Given the description of an element on the screen output the (x, y) to click on. 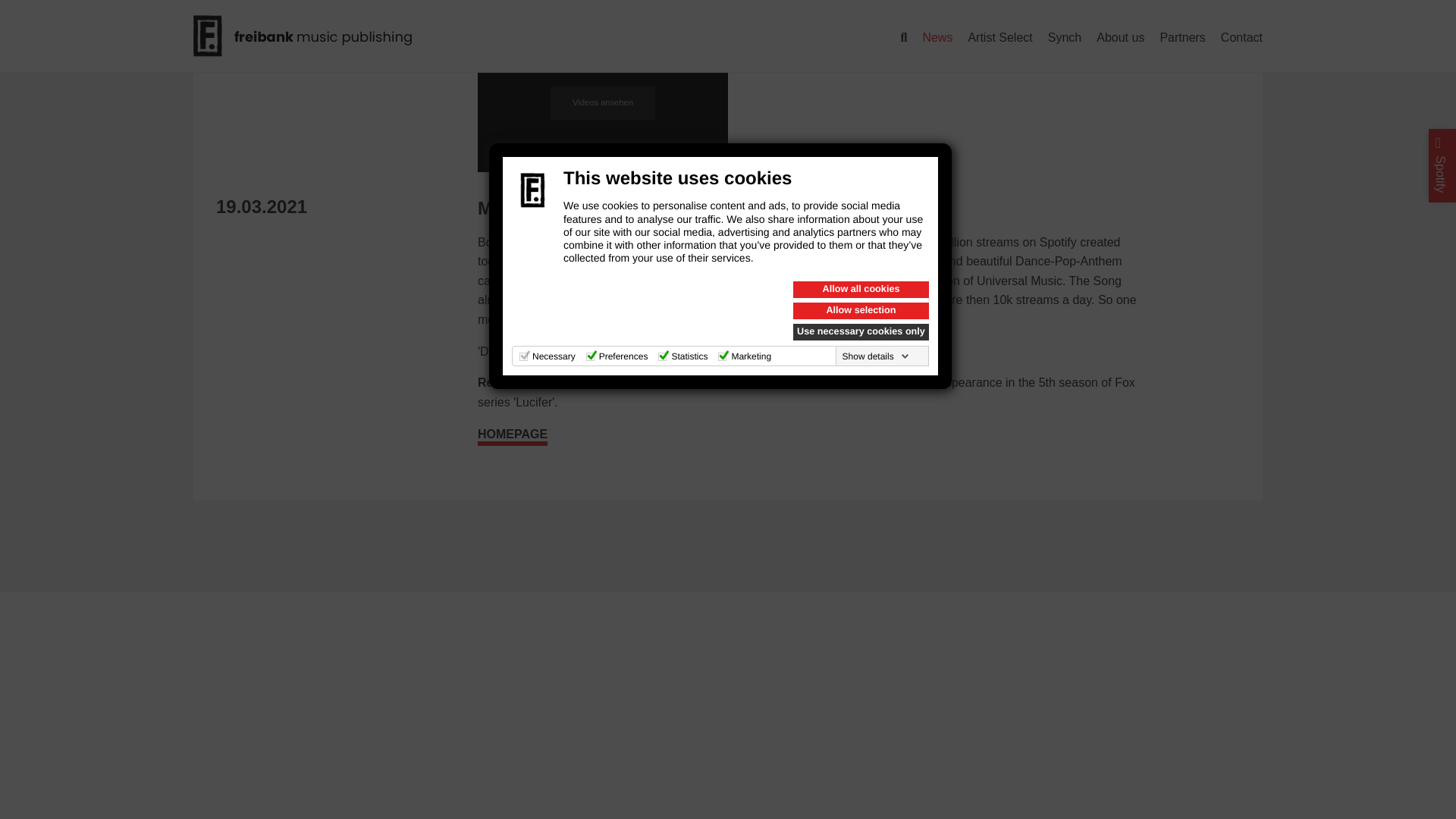
Allow selection (860, 5)
Use necessary cookies only (860, 23)
Videos ansehen (602, 102)
Show details (876, 47)
